Given the description of an element on the screen output the (x, y) to click on. 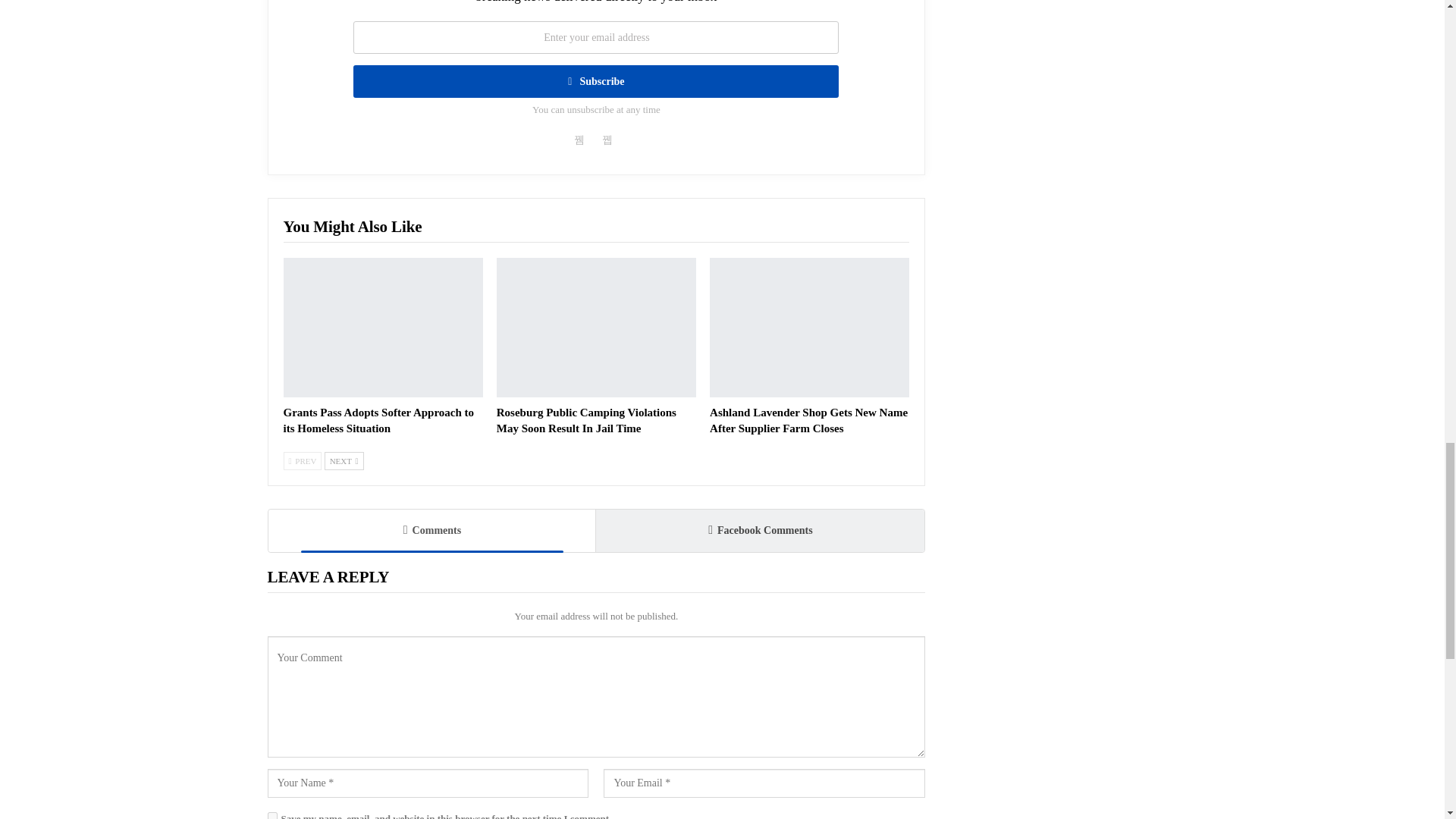
Next (344, 461)
You Might Also Like (352, 227)
Subscribe (595, 81)
Previous (302, 461)
Grants Pass Adopts Softer Approach to its Homeless Situation (378, 420)
Grants Pass Adopts Softer Approach to its Homeless Situation (383, 327)
yes (271, 815)
